Given the description of an element on the screen output the (x, y) to click on. 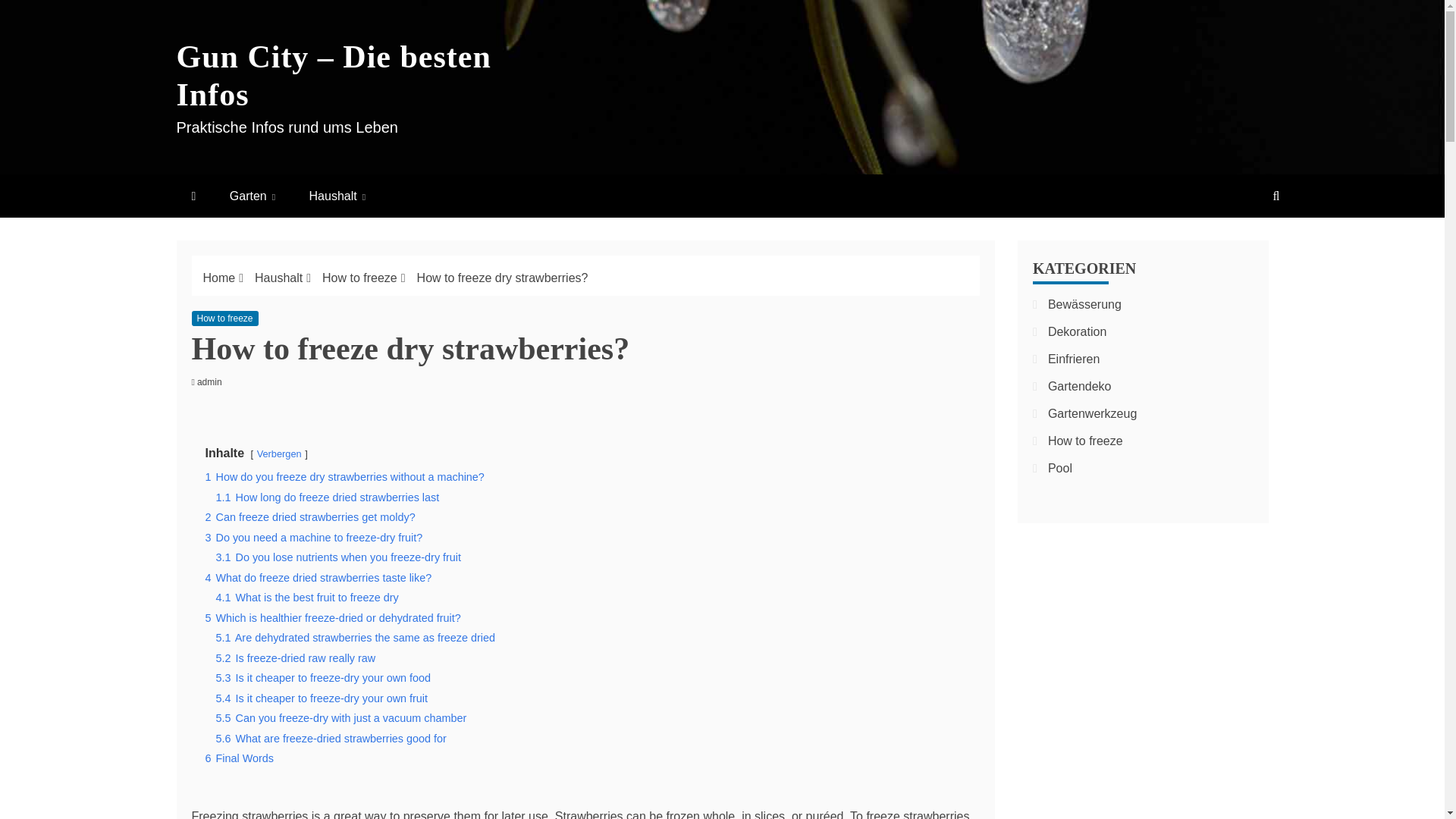
How to freeze (223, 318)
5.3 Is it cheaper to freeze-dry your own food (322, 677)
admin (213, 381)
1 How do you freeze dry strawberries without a machine? (344, 476)
5.6 What are freeze-dried strawberries good for (330, 738)
Home (219, 277)
5.4 Is it cheaper to freeze-dry your own fruit (321, 698)
5.2 Is freeze-dried raw really raw (295, 657)
Haushalt (278, 277)
Haushalt (337, 195)
5 Which is healthier freeze-dried or dehydrated fruit? (332, 617)
1.1 How long do freeze dried strawberries last (327, 497)
Garten (251, 195)
2 Can freeze dried strawberries get moldy? (309, 517)
4 What do freeze dried strawberries taste like? (317, 577)
